Given the description of an element on the screen output the (x, y) to click on. 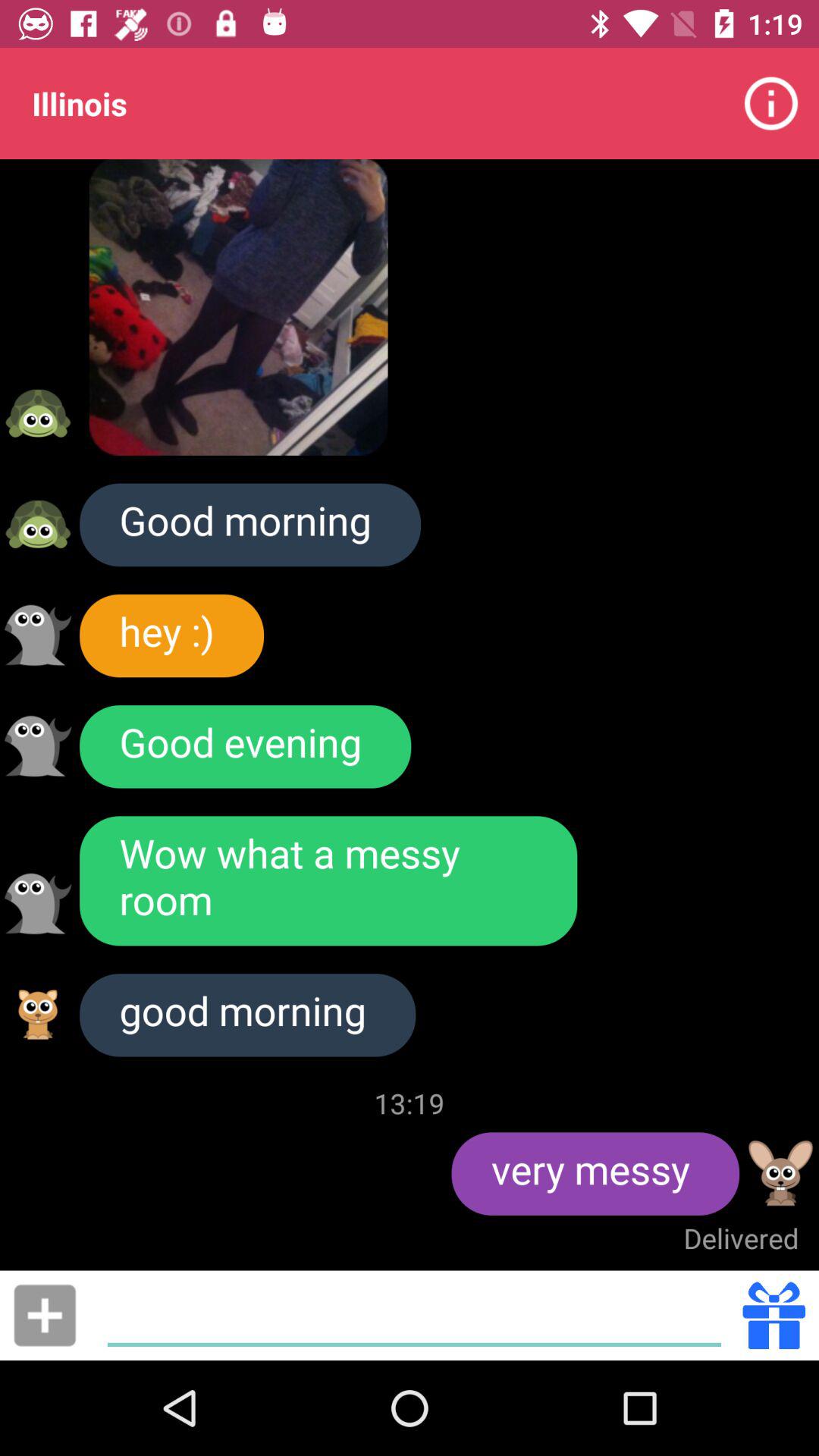
avatar more info (38, 903)
